Given the description of an element on the screen output the (x, y) to click on. 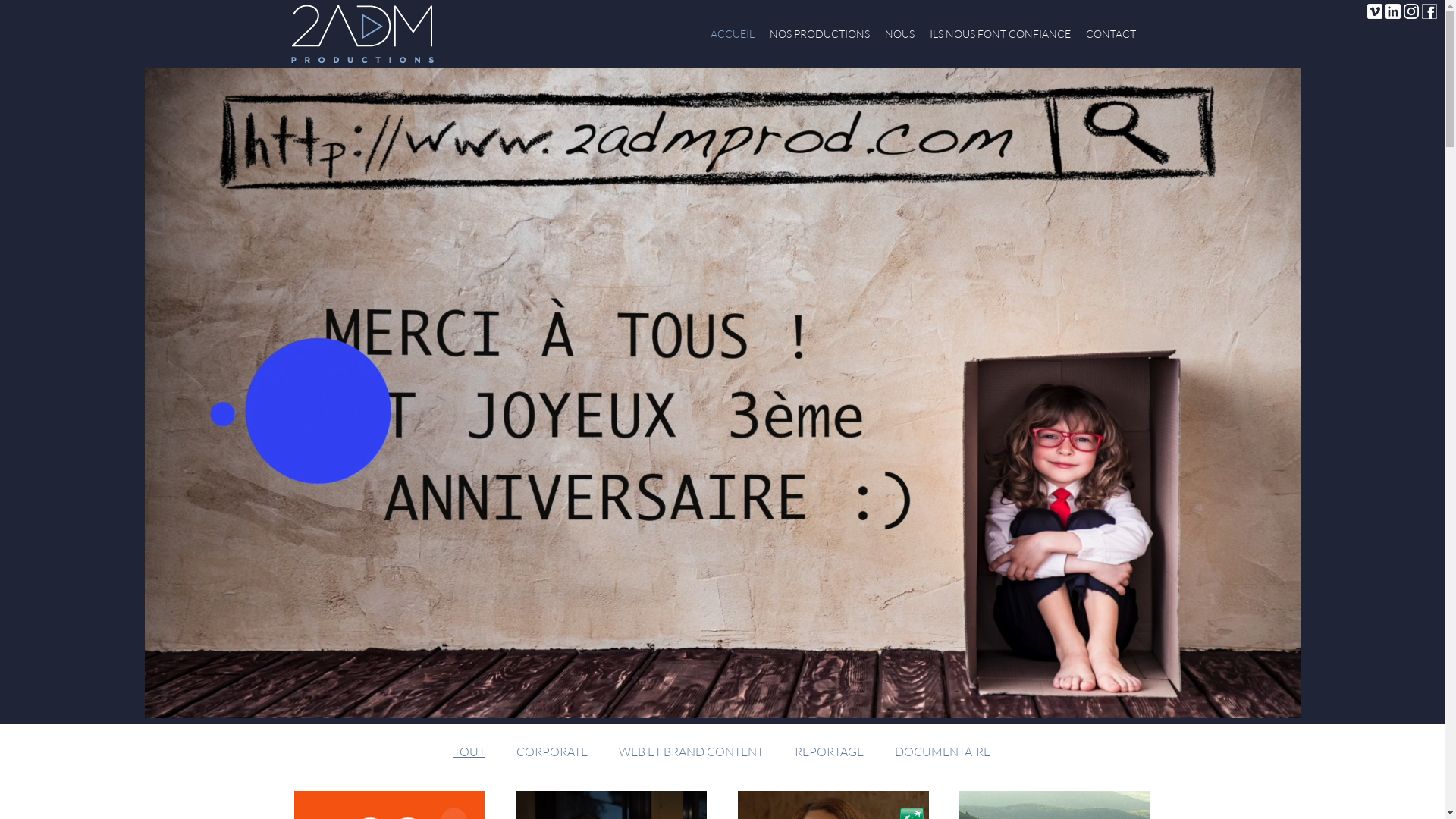
ACCUEIL Element type: text (731, 33)
DOCUMENTAIRE Element type: text (942, 751)
ILS NOUS FONT CONFIANCE Element type: text (1000, 33)
CORPORATE Element type: text (551, 751)
WEB ET BRAND CONTENT Element type: text (691, 751)
TOUT Element type: text (468, 751)
CONTACT Element type: text (1110, 33)
NOS PRODUCTIONS Element type: text (818, 33)
REPORTAGE Element type: text (829, 751)
NOUS Element type: text (898, 33)
